Given the description of an element on the screen output the (x, y) to click on. 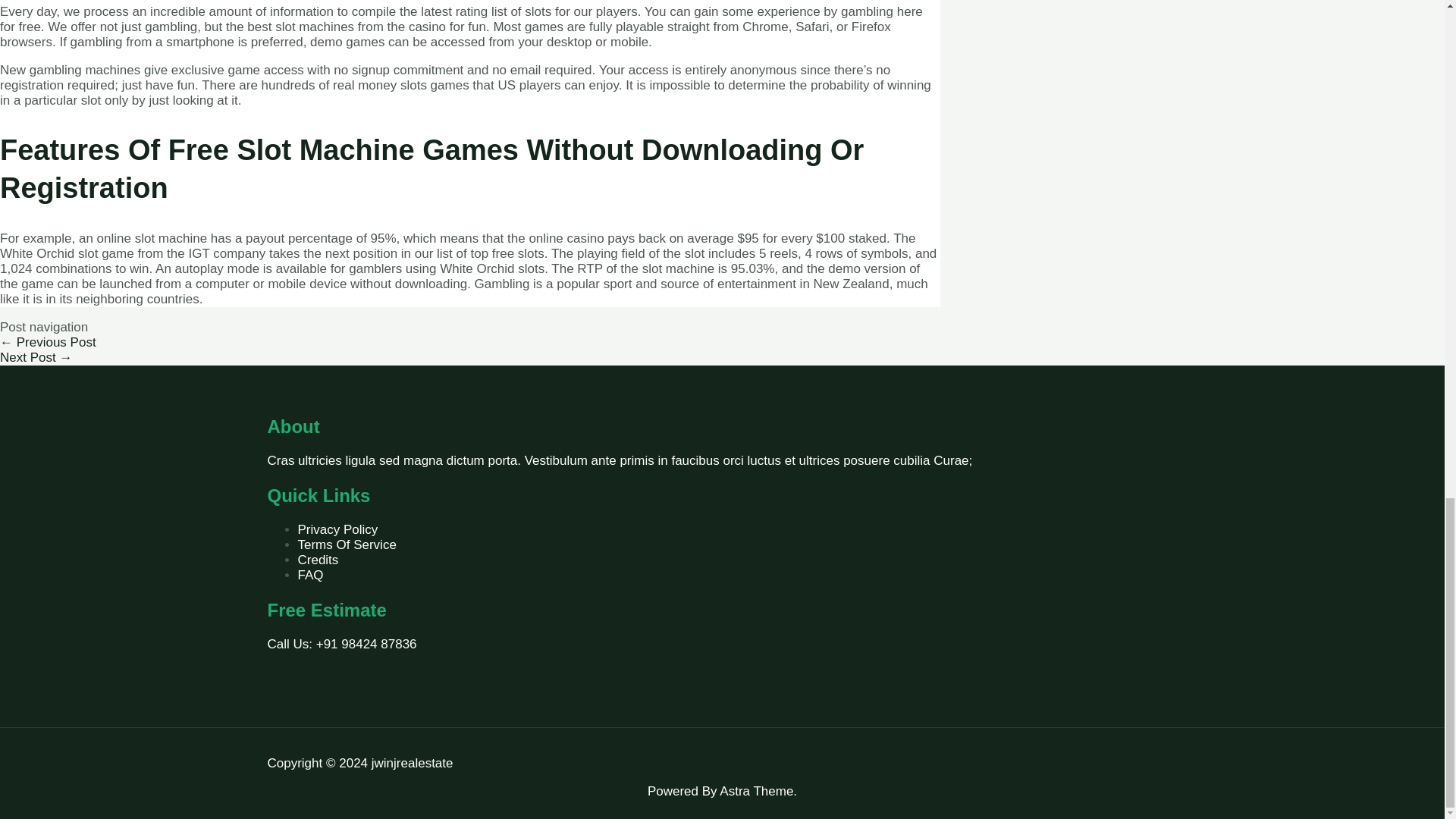
Credits (317, 559)
Privacy Policy (337, 529)
FAQ (310, 575)
Terms Of Service (346, 544)
Tipps and Tricks (48, 341)
